Given the description of an element on the screen output the (x, y) to click on. 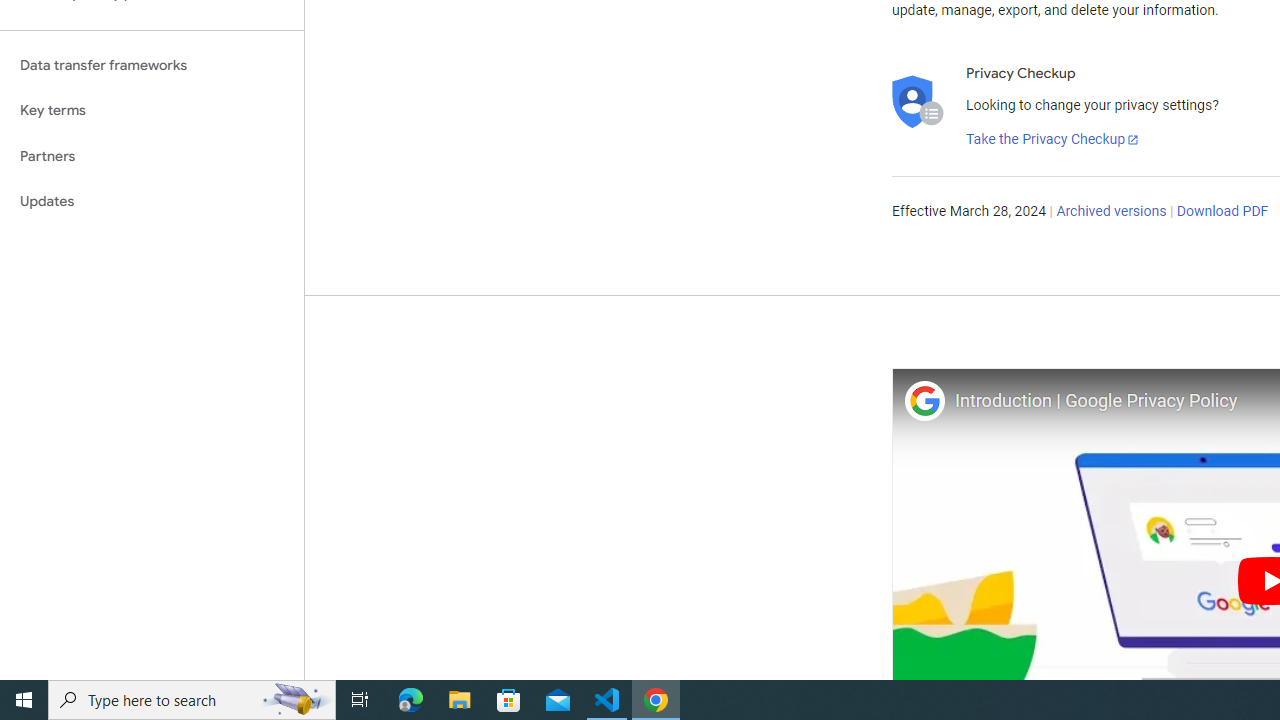
Key terms (152, 110)
Archived versions (1111, 212)
Updates (152, 201)
Partners (152, 156)
Photo image of Google (924, 400)
Download PDF (1222, 212)
Take the Privacy Checkup (1053, 140)
Data transfer frameworks (152, 65)
